Given the description of an element on the screen output the (x, y) to click on. 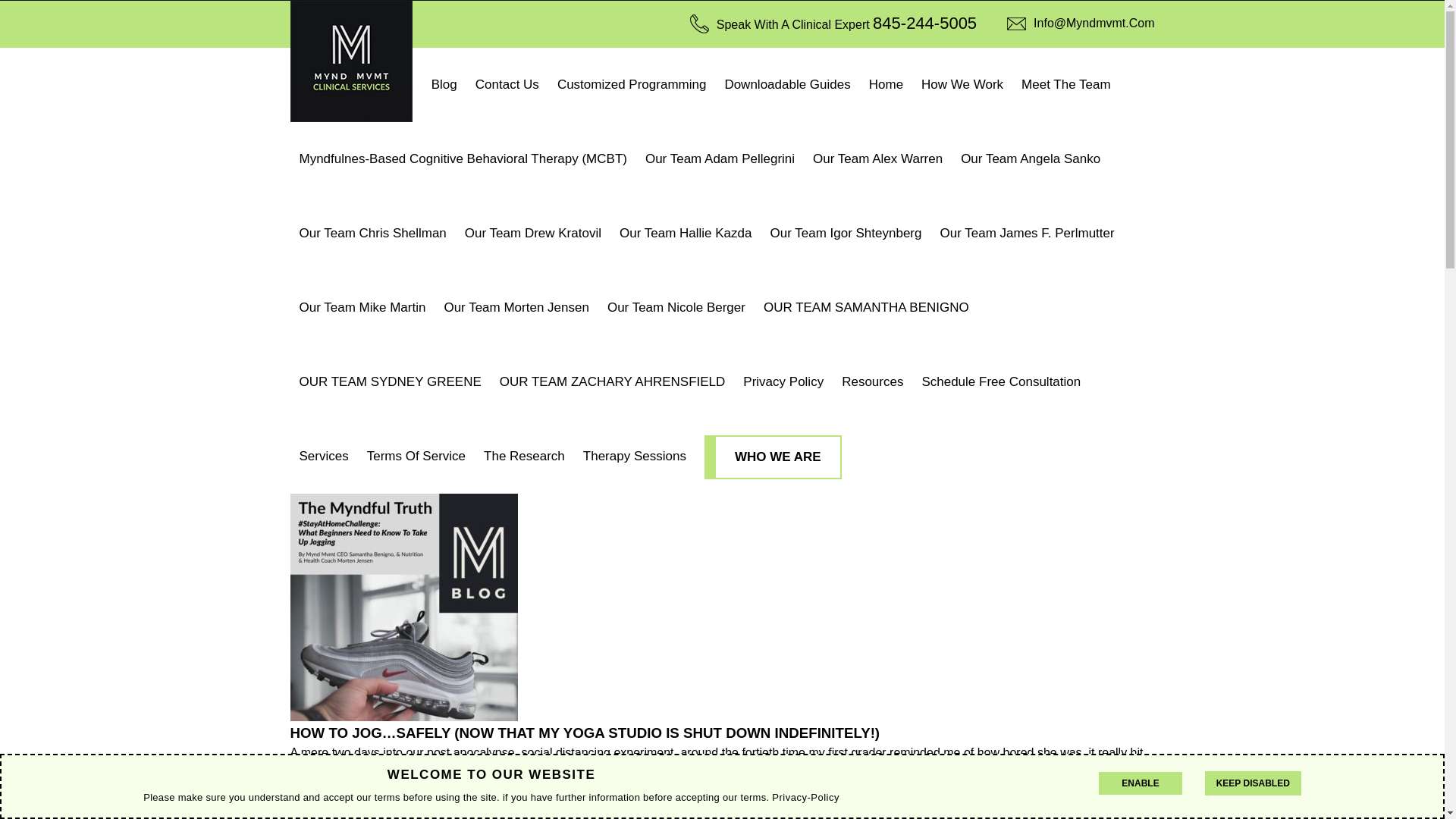
Our Team Morten Jensen (515, 307)
OUR TEAM SYDNEY GREENE (389, 381)
Our Team Drew Kratovil (532, 233)
Privacy Policy (782, 381)
The Research (523, 456)
Our Team Alex Warren (877, 159)
Our Team Mike Martin (361, 307)
845-244-5005 (924, 22)
Our Team Angela Sanko (1030, 159)
Therapy Sessions (634, 456)
Schedule Free Consultation (1000, 381)
Customized Programming (632, 84)
Our Team James F. Perlmutter (1026, 233)
Meet The Team (1065, 84)
Terms Of Service (416, 456)
